Given the description of an element on the screen output the (x, y) to click on. 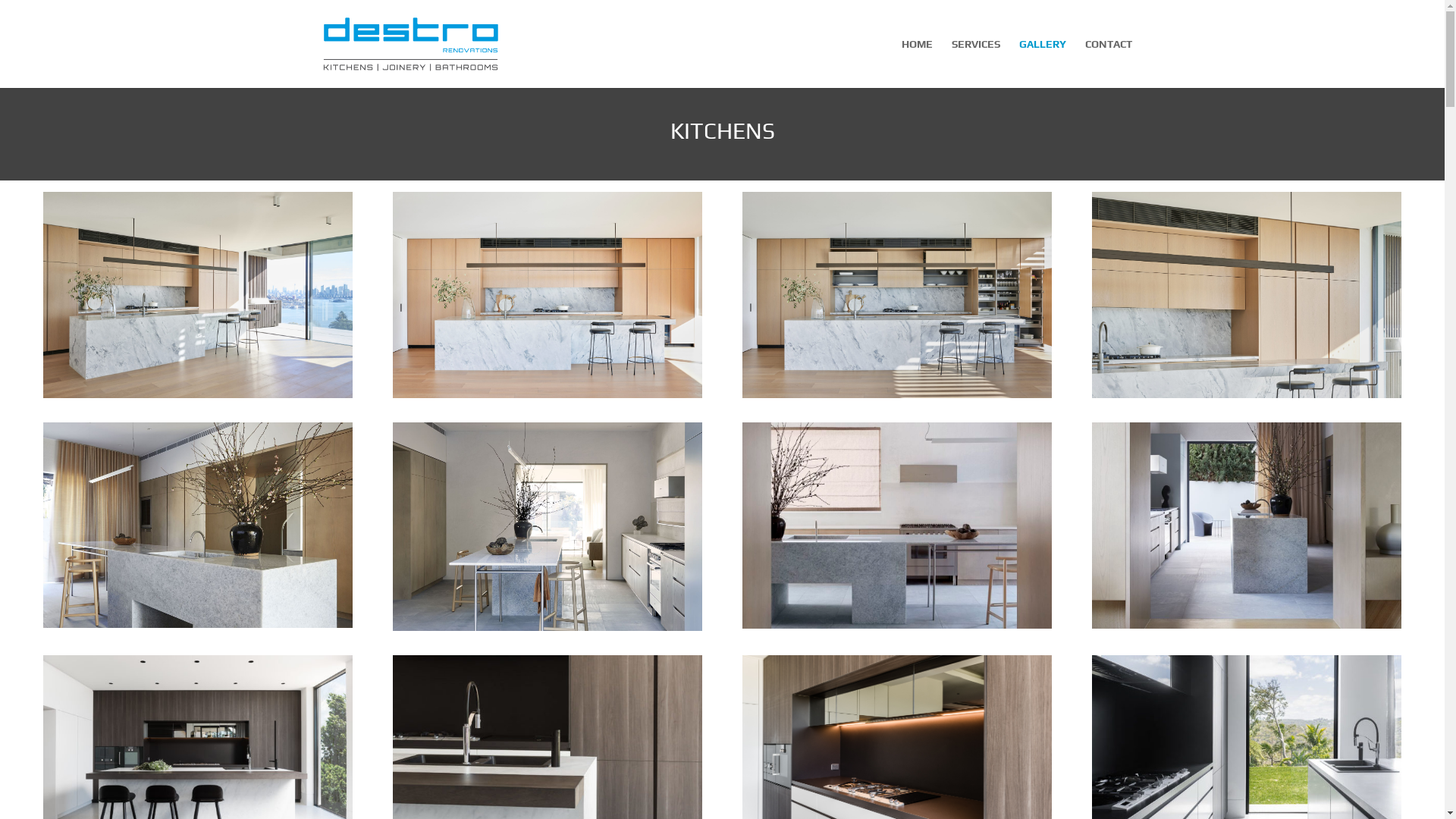
CONTACT Element type: text (1107, 62)
GALLERY Element type: text (1042, 62)
SERVICES Element type: text (974, 62)
HOME Element type: text (915, 62)
